Given the description of an element on the screen output the (x, y) to click on. 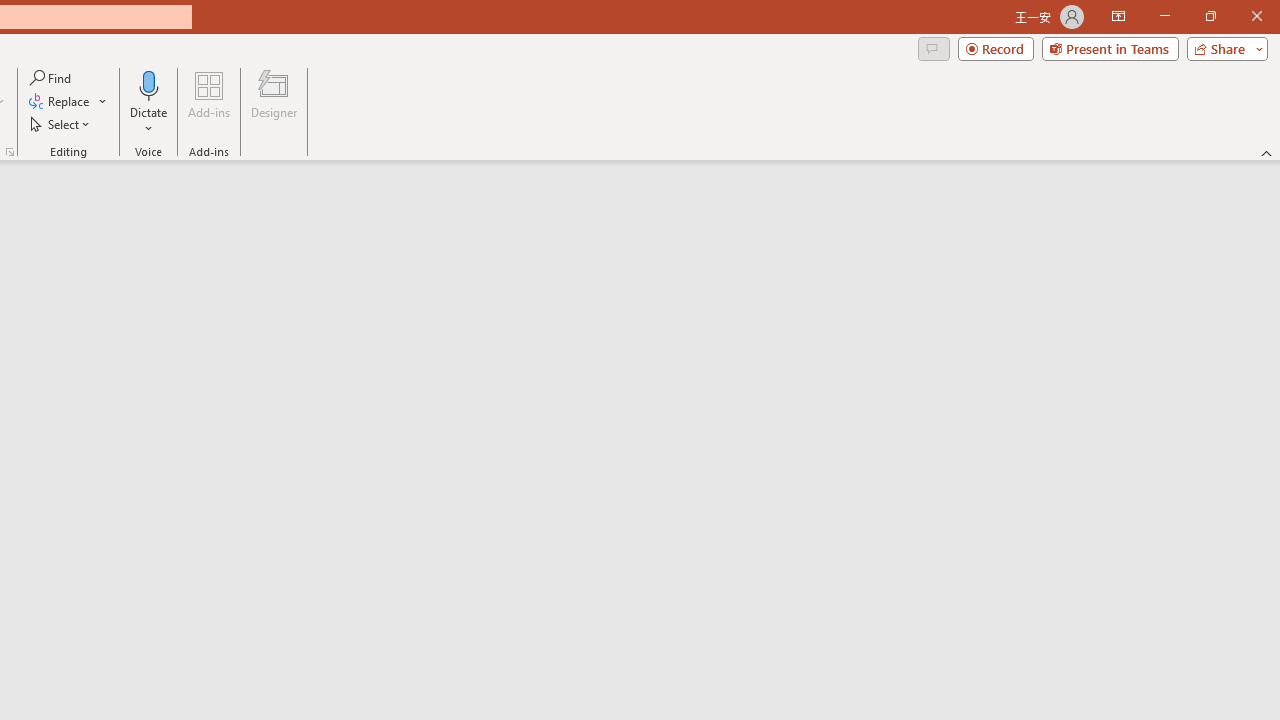
Dictate (149, 84)
Replace... (68, 101)
Select (61, 124)
Comments (933, 48)
Present in Teams (1109, 48)
Ribbon Display Options (1118, 16)
Format Object... (9, 151)
Dictate (149, 102)
More Options (149, 121)
Share (1223, 48)
Replace... (60, 101)
Close (1256, 16)
